Given the description of an element on the screen output the (x, y) to click on. 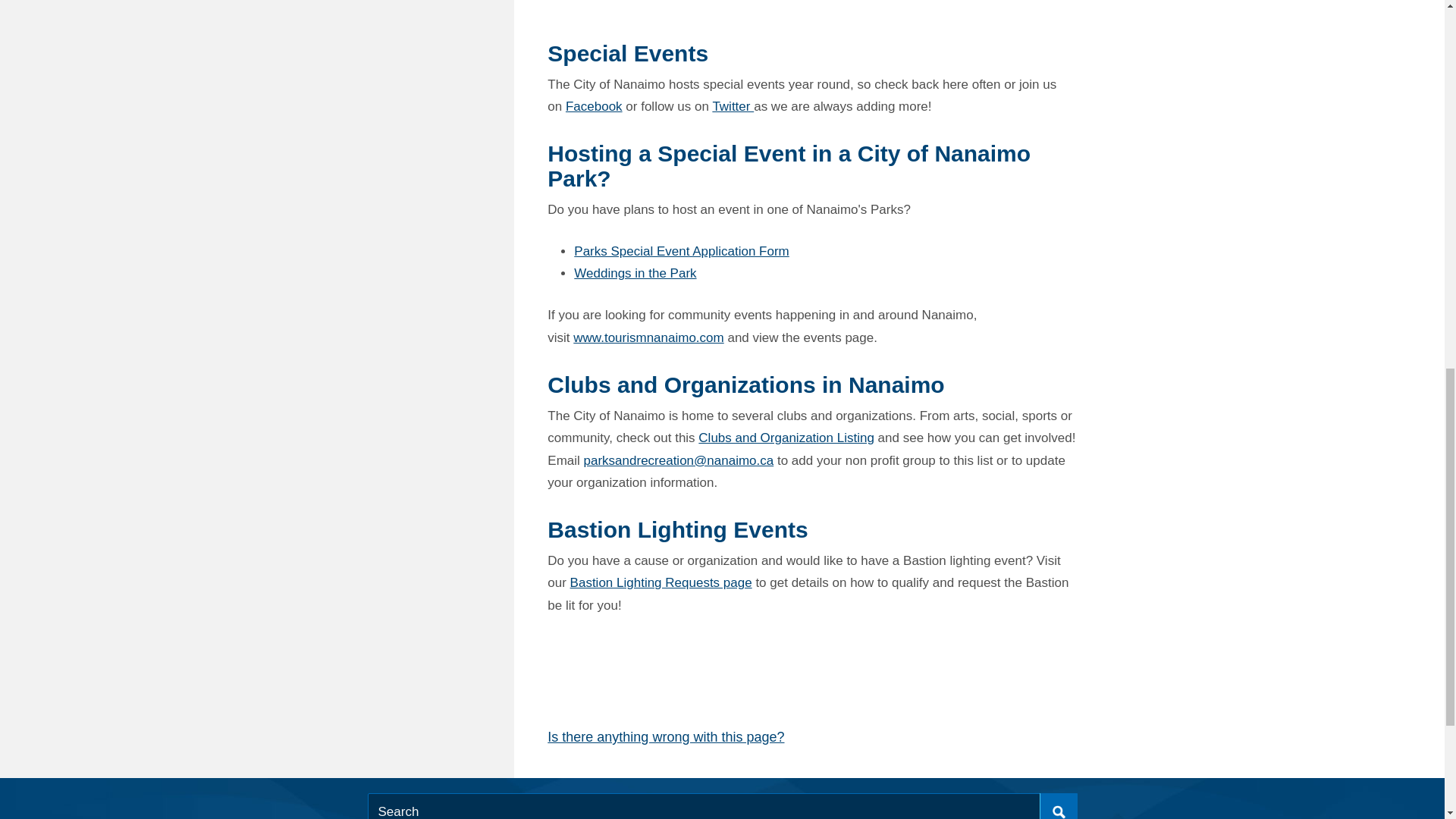
Search input (721, 806)
Weddings in the Park (634, 273)
clubsandorganizations (786, 437)
